Given the description of an element on the screen output the (x, y) to click on. 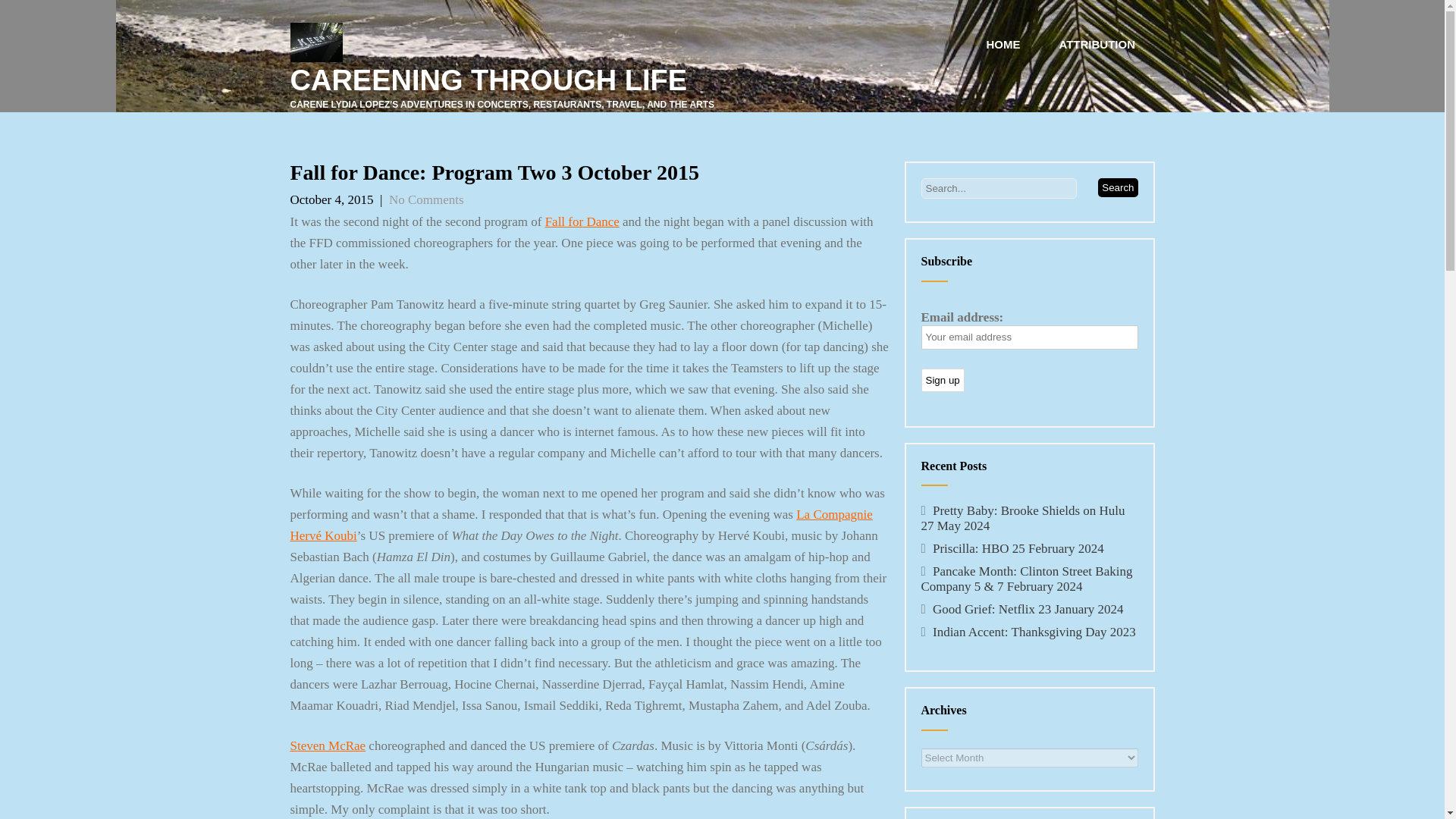
Indian Accent: Thanksgiving Day 2023 (1034, 631)
Good Grief: Netflix 23 January 2024 (1028, 608)
Fall for Dance (582, 221)
Search (1117, 187)
ATTRIBUTION (1096, 44)
Search (1117, 187)
Search (1117, 187)
Sign up (941, 380)
Priscilla: HBO 25 February 2024 (1018, 548)
